Given the description of an element on the screen output the (x, y) to click on. 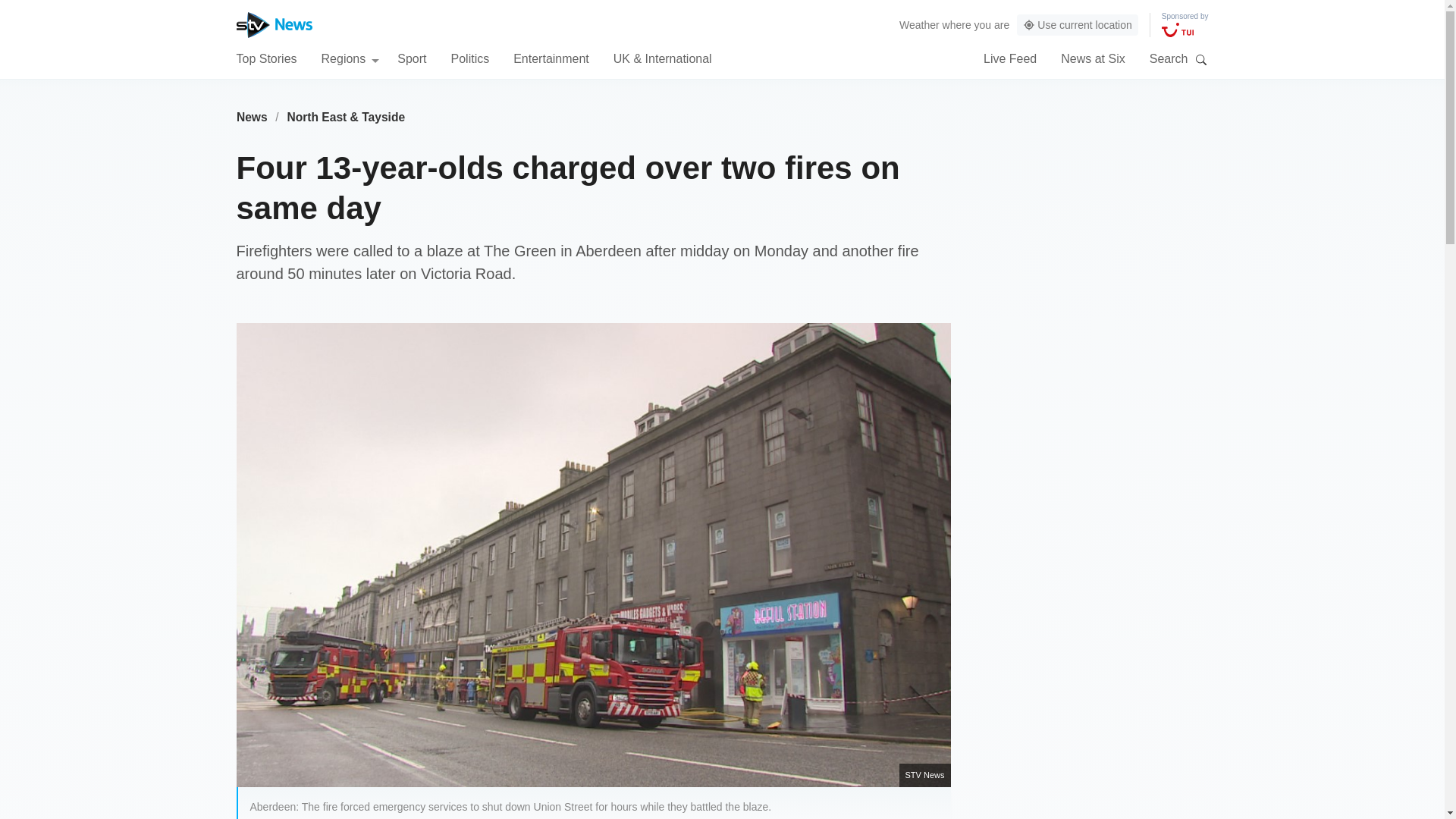
Entertainment (551, 57)
Regions (350, 57)
Politics (469, 57)
Use current location (1077, 25)
News at Six (1092, 57)
News (252, 116)
Weather (919, 24)
Top Stories (266, 57)
Live Feed (1010, 57)
Search (1201, 59)
